Given the description of an element on the screen output the (x, y) to click on. 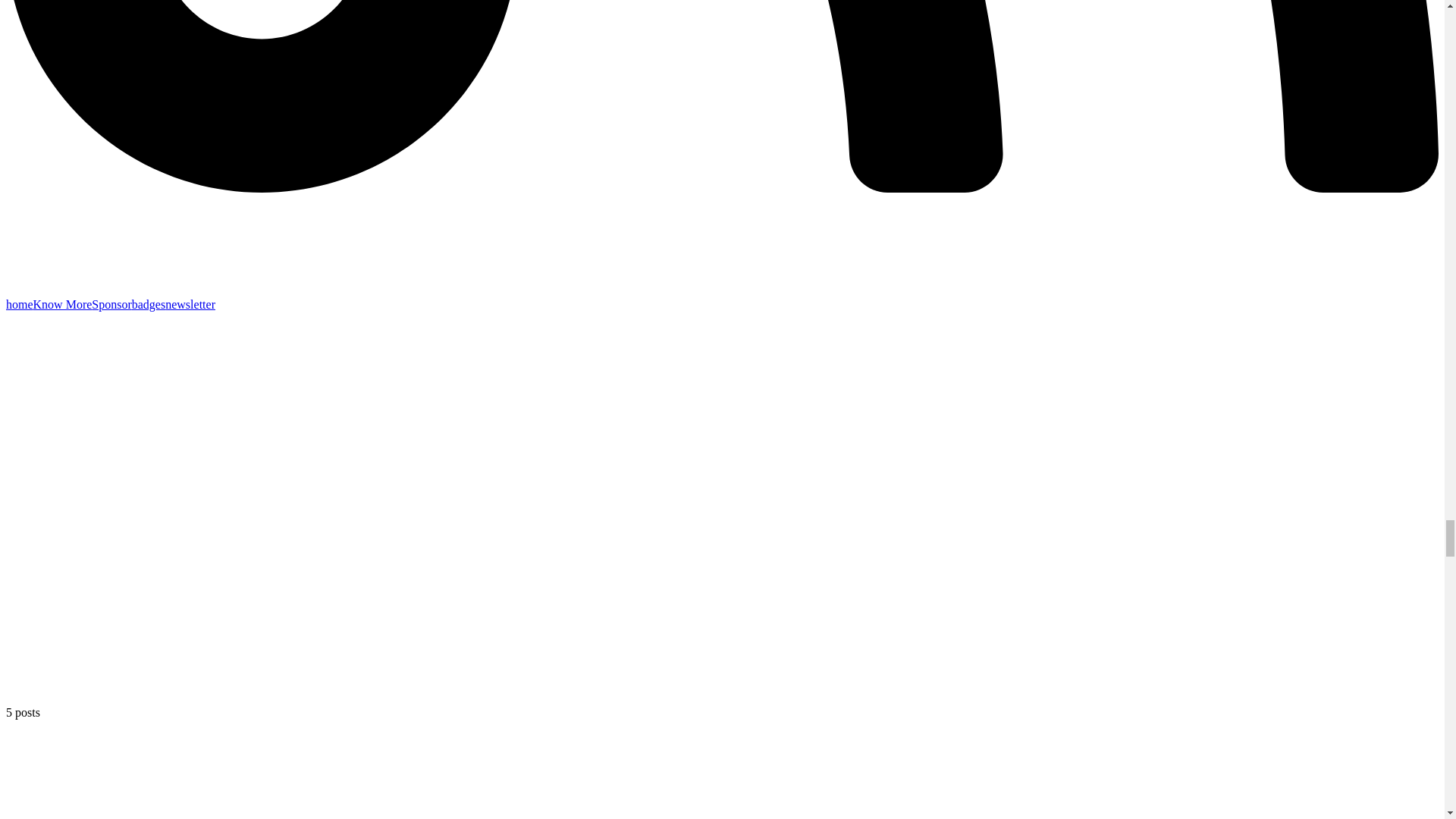
home (19, 304)
newsletter (190, 304)
Sponsor (111, 304)
Know More (63, 304)
badges (148, 304)
